Given the description of an element on the screen output the (x, y) to click on. 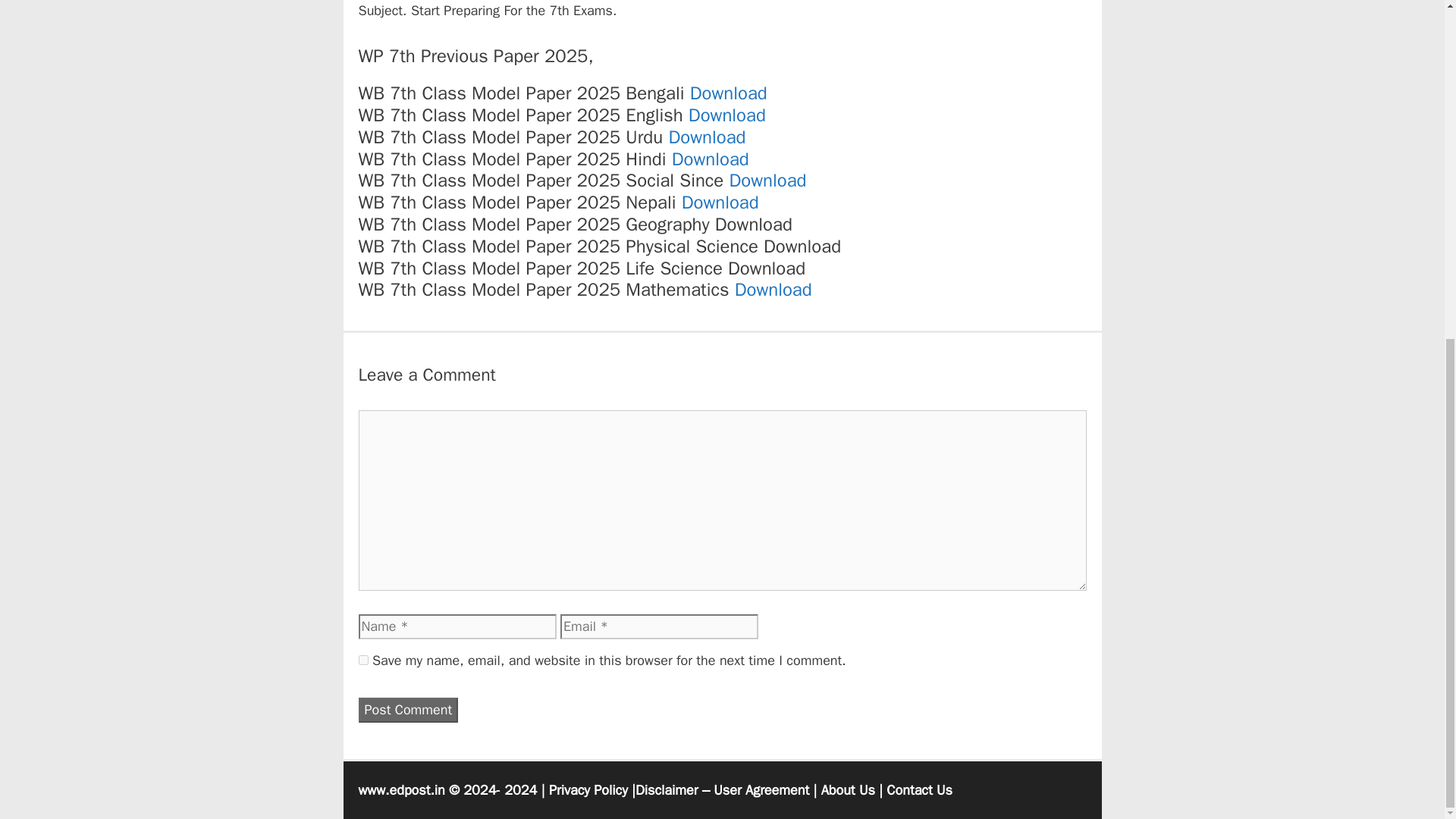
Privacy Policy (587, 790)
Contact Us (919, 790)
Download (728, 92)
Download (706, 137)
Post Comment (408, 709)
Download (719, 201)
Download (726, 115)
Post Comment (408, 709)
Download (773, 289)
Download (710, 159)
